Given the description of an element on the screen output the (x, y) to click on. 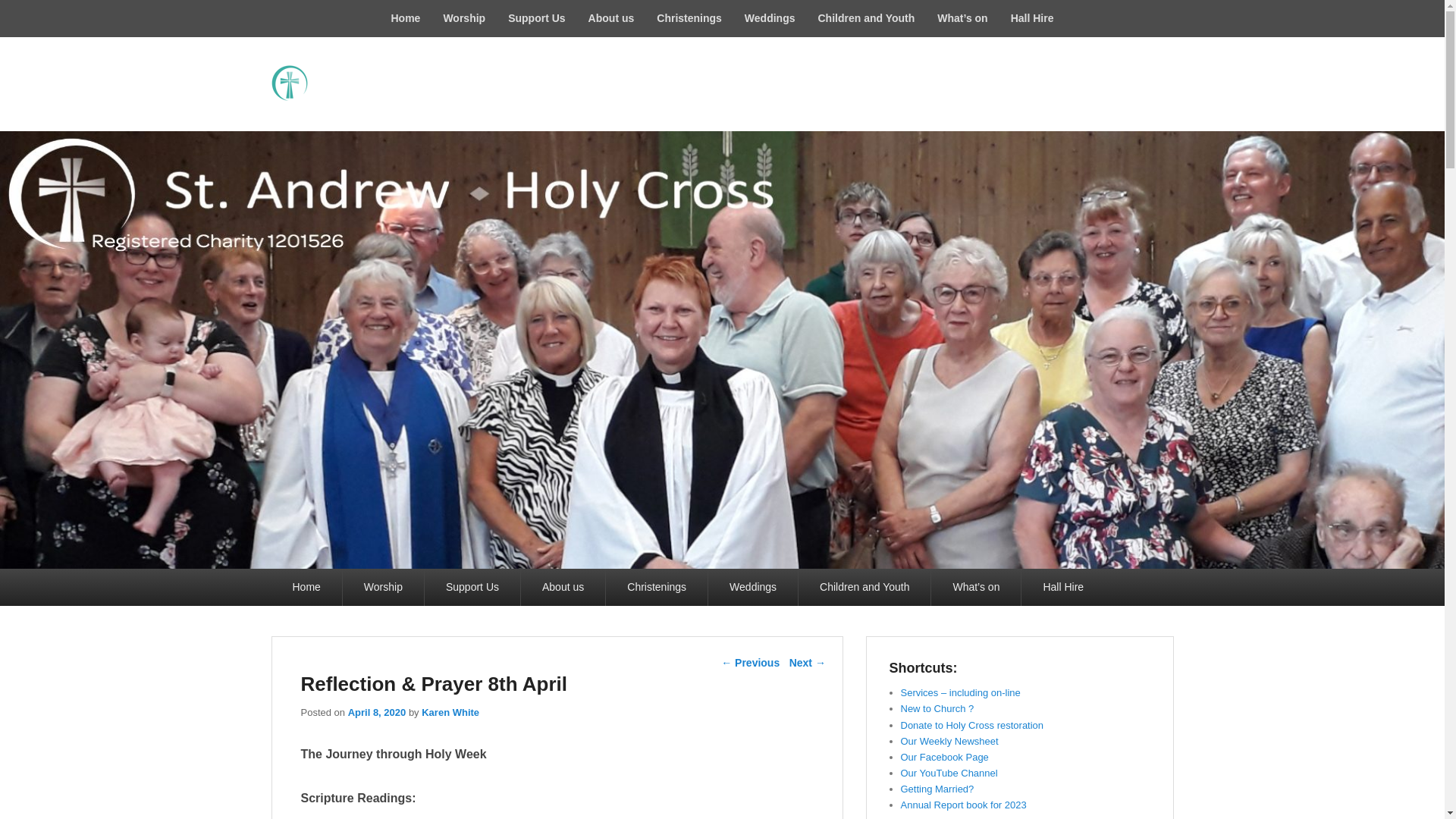
Christenings (689, 18)
11:17 am (376, 712)
Support Us (536, 18)
Weddings (769, 18)
Home (404, 18)
Children and Youth (866, 18)
Hall Hire (1031, 18)
About us (611, 18)
View all posts by Karen White (450, 712)
Worship (463, 18)
